Given the description of an element on the screen output the (x, y) to click on. 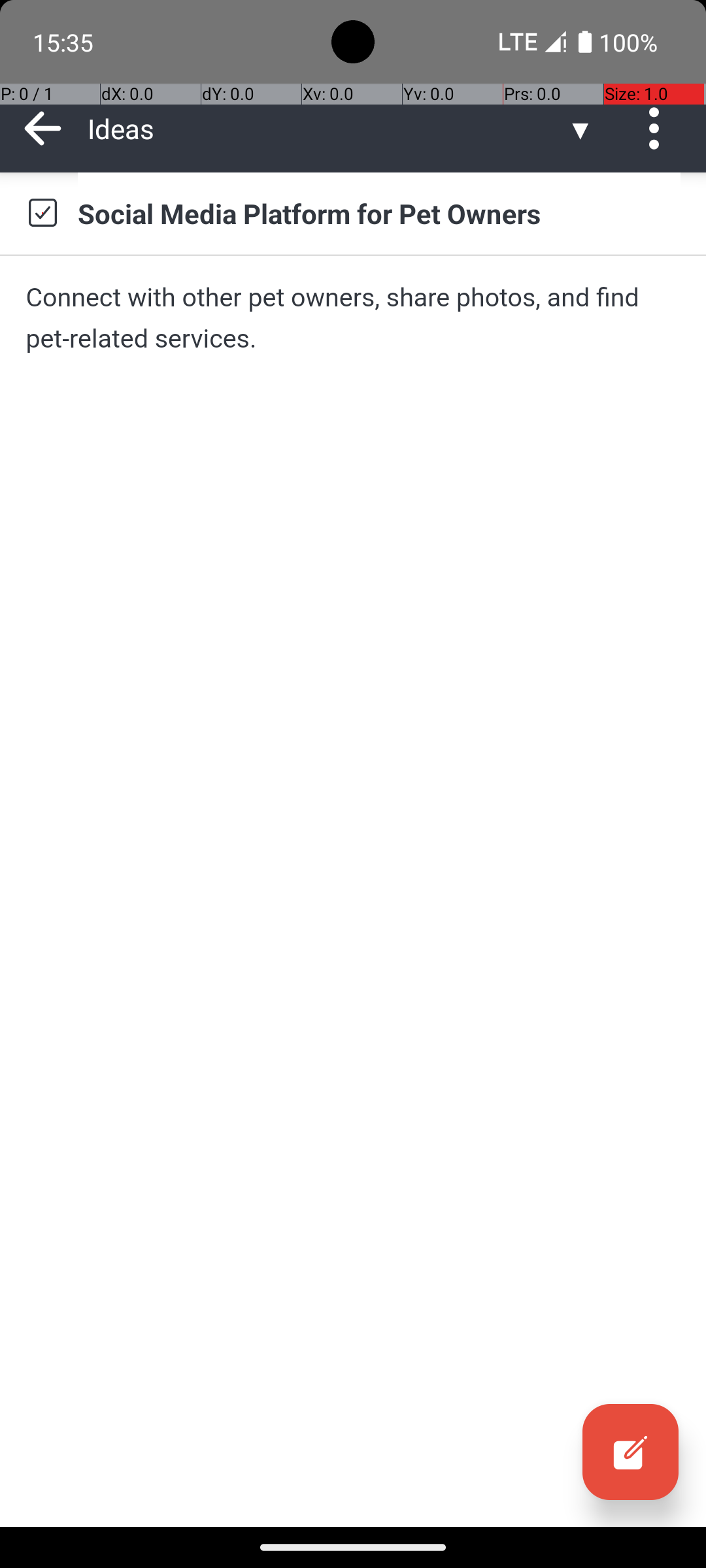
Social Media Platform for Pet Owners Element type: android.widget.EditText (378, 213)
Connect with other pet owners, share photos, and find pet-related services. Element type: android.widget.TextView (352, 317)
